Given the description of an element on the screen output the (x, y) to click on. 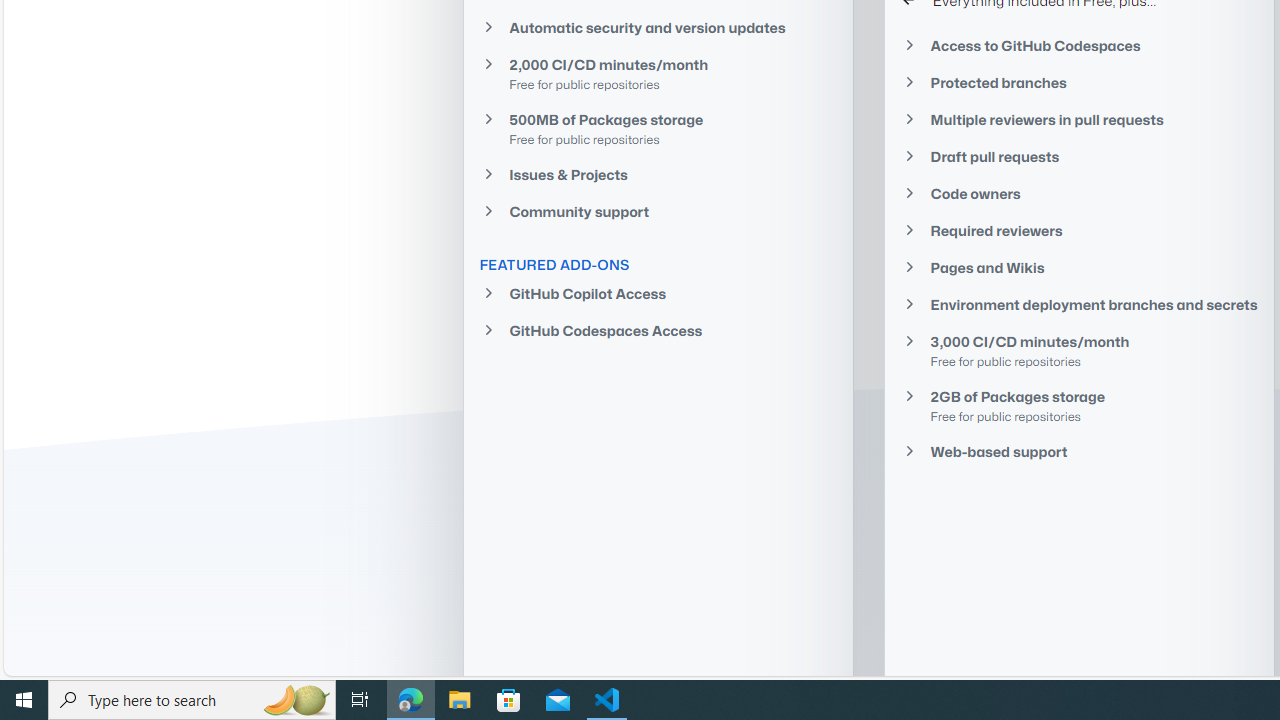
Automatic security and version updates (657, 26)
Issues & Projects (657, 173)
Draft pull requests (1079, 156)
Protected branches (1079, 83)
Draft pull requests (1079, 155)
2GB of Packages storageFree for public repositories (1079, 405)
Pages and Wikis (1079, 267)
2,000 CI/CD minutes/month Free for public repositories (657, 74)
500MB of Packages storageFree for public repositories (657, 128)
3,000 CI/CD minutes/month Free for public repositories (1079, 350)
GitHub Copilot Access (657, 293)
500MB of Packages storage Free for public repositories (657, 128)
Automatic security and version updates (657, 27)
GitHub Copilot Access (657, 294)
Web-based support (1079, 451)
